Given the description of an element on the screen output the (x, y) to click on. 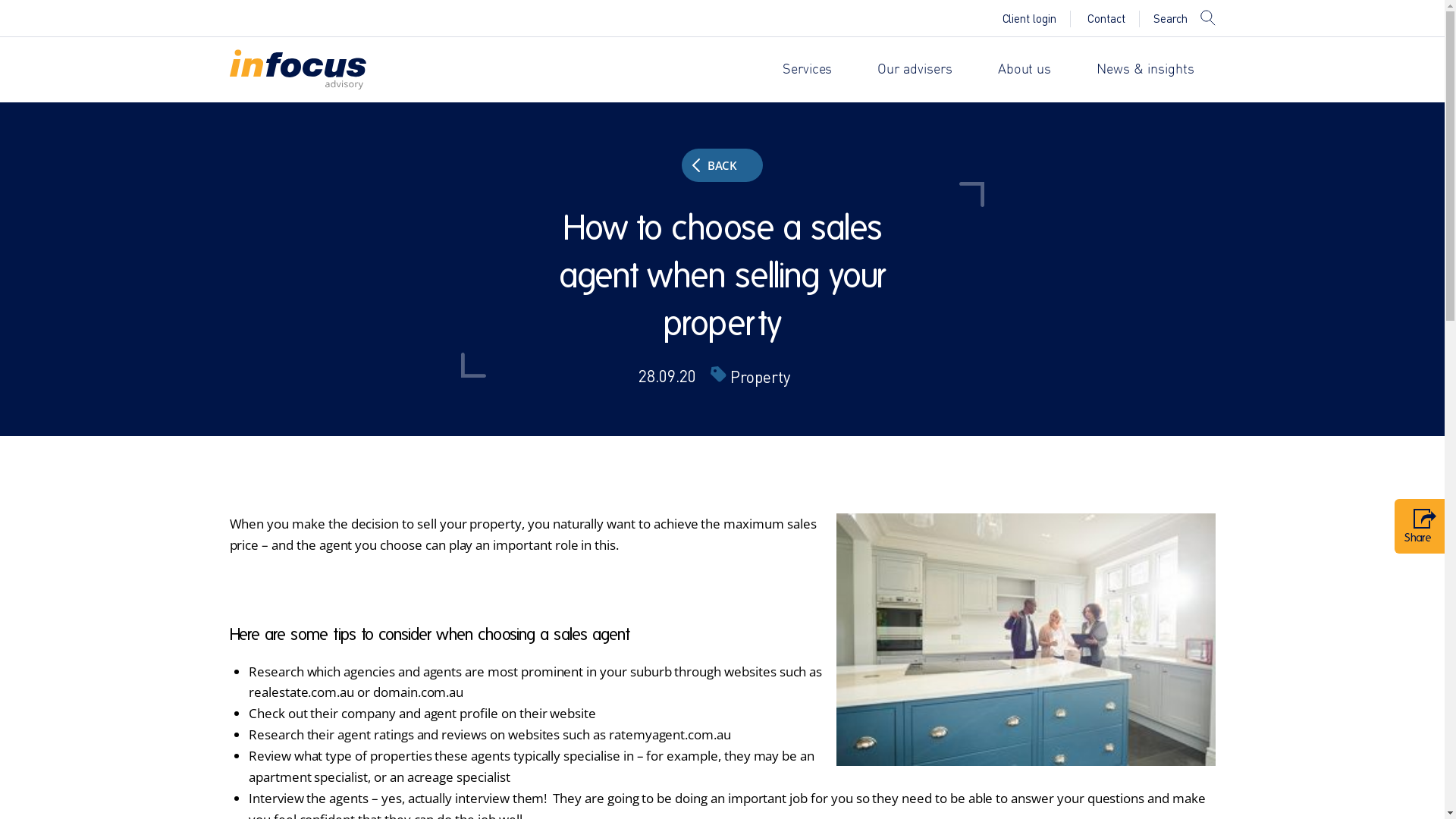
Property Element type: text (768, 376)
News & insights Element type: text (1144, 69)
Services Element type: text (807, 69)
About us Element type: text (1024, 69)
Our advisers Element type: text (914, 69)
BACK Element type: text (722, 165)
Client login Element type: text (1029, 18)
Contact Element type: text (1106, 18)
